Given the description of an element on the screen output the (x, y) to click on. 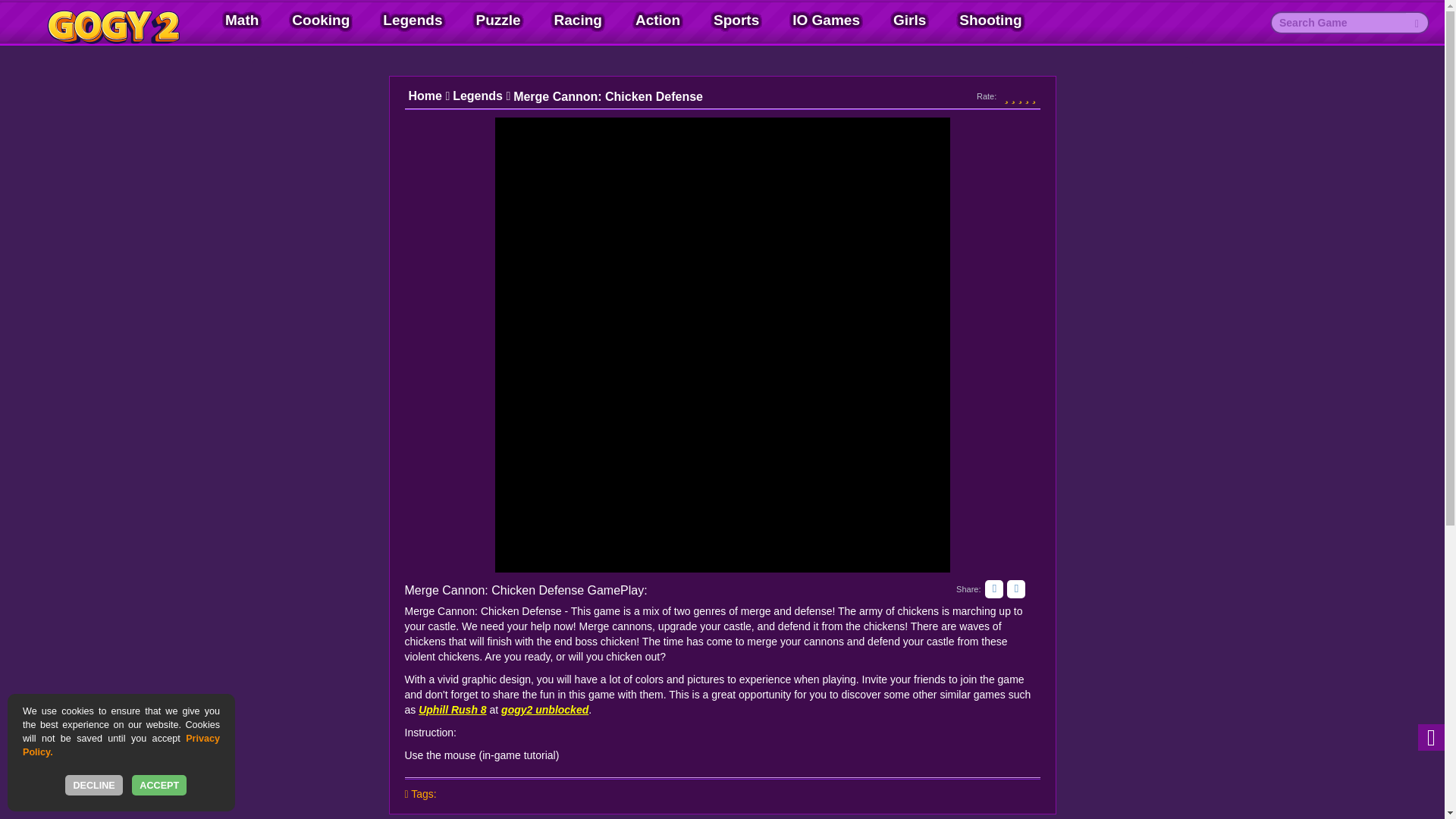
Legends (411, 20)
Racing (577, 20)
Sports (735, 20)
Shooting (989, 20)
gogy2 unblocked (544, 709)
Math (241, 20)
Home (428, 96)
Action (658, 20)
Math (241, 20)
Sports (735, 20)
